Given the description of an element on the screen output the (x, y) to click on. 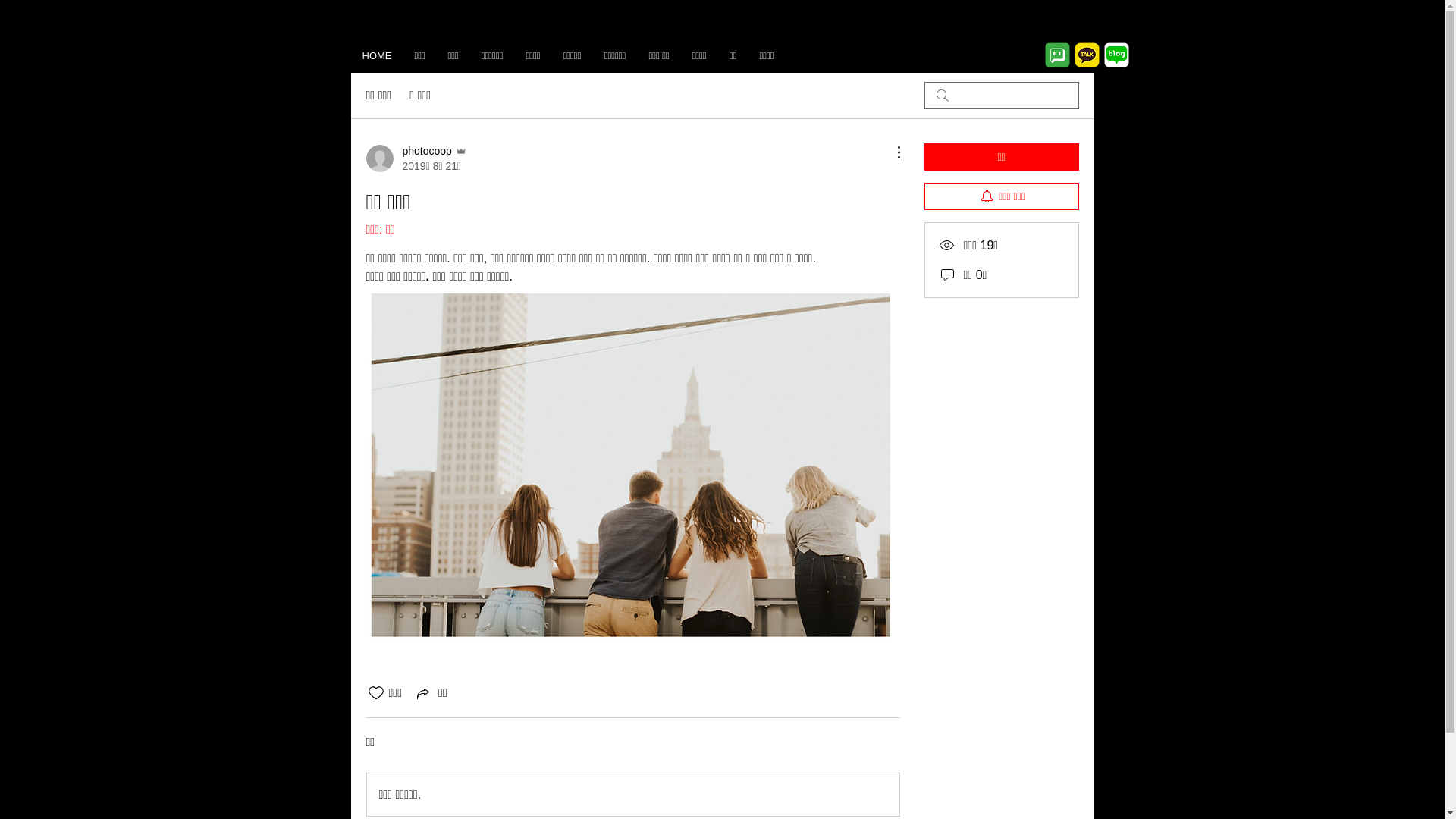
HOME Element type: text (376, 55)
